Given the description of an element on the screen output the (x, y) to click on. 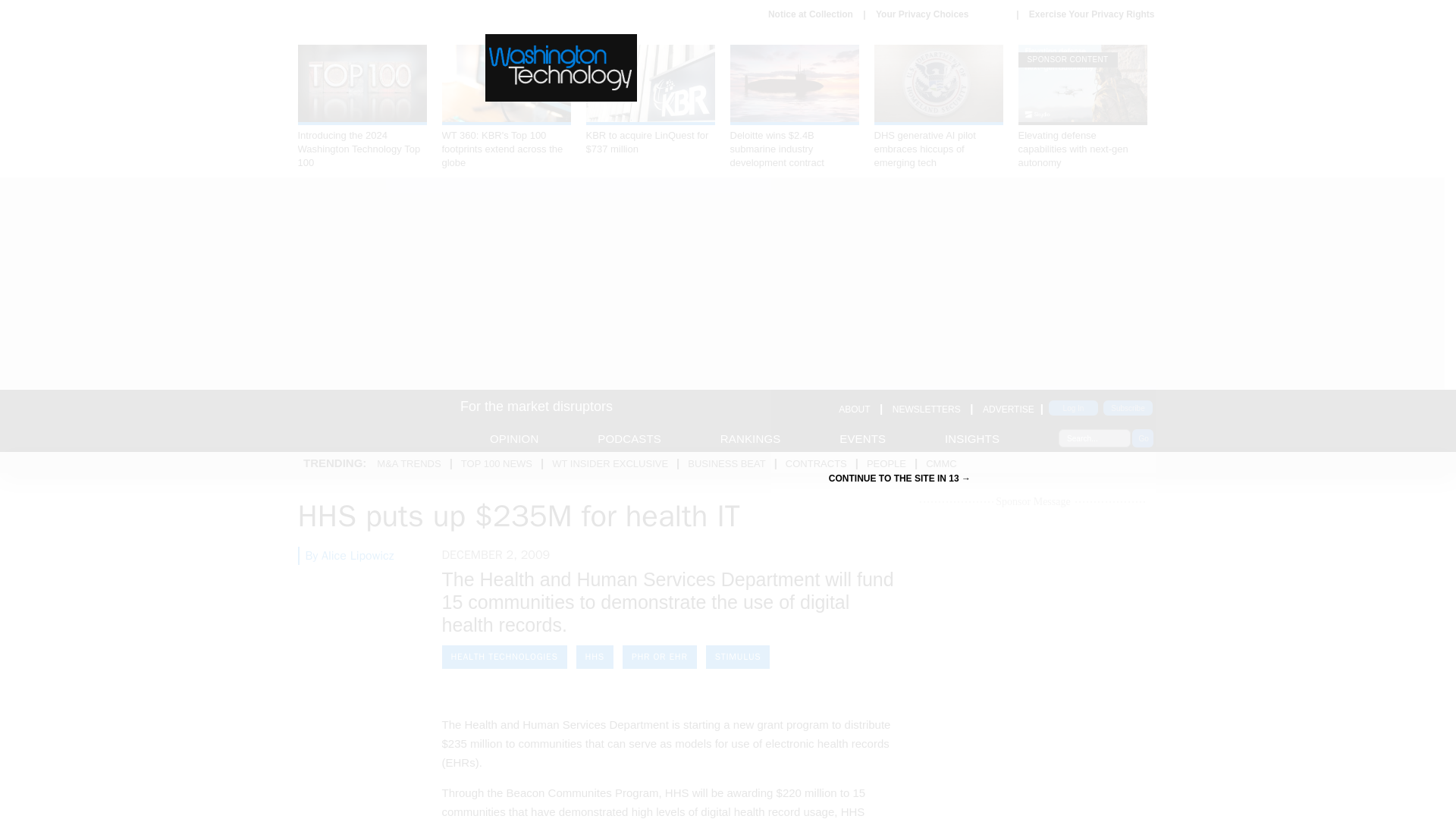
ADVERTISE (1007, 409)
DHS generative AI pilot embraces hiccups of emerging tech (938, 107)
INSIGHTS (971, 438)
EVENTS (862, 438)
RANKINGS (750, 438)
WT 360: KBR's Top 100 footprints extend across the globe (505, 107)
OPINION (513, 438)
PODCASTS (628, 438)
Your Privacy Choices (941, 14)
3rd party ad content (1032, 665)
ABOUT (853, 409)
Introducing the 2024 Washington Technology Top 100 (361, 107)
